Given the description of an element on the screen output the (x, y) to click on. 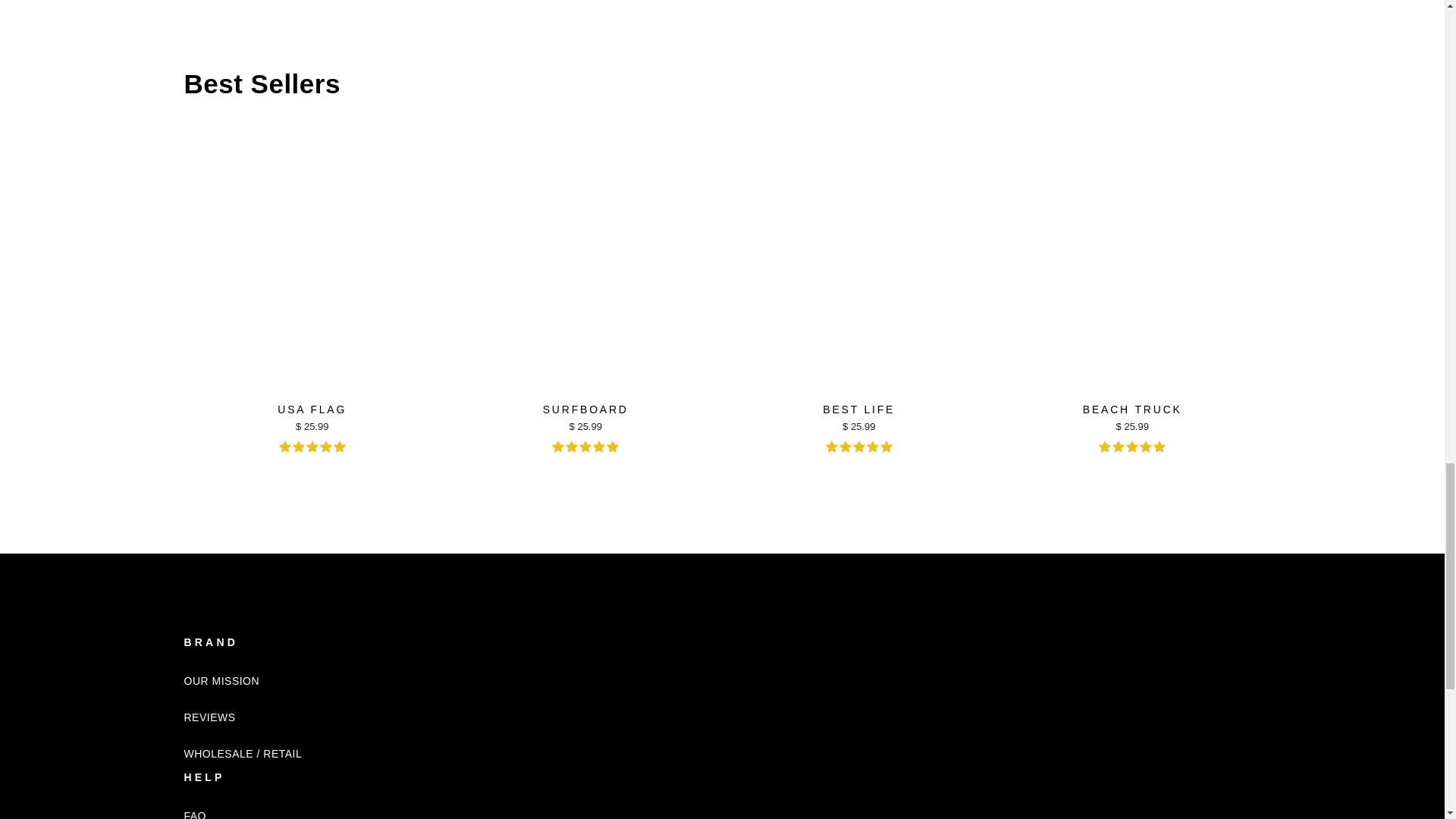
FAQ (194, 808)
REVIEWS (208, 717)
OUR MISSION (221, 680)
